Given the description of an element on the screen output the (x, y) to click on. 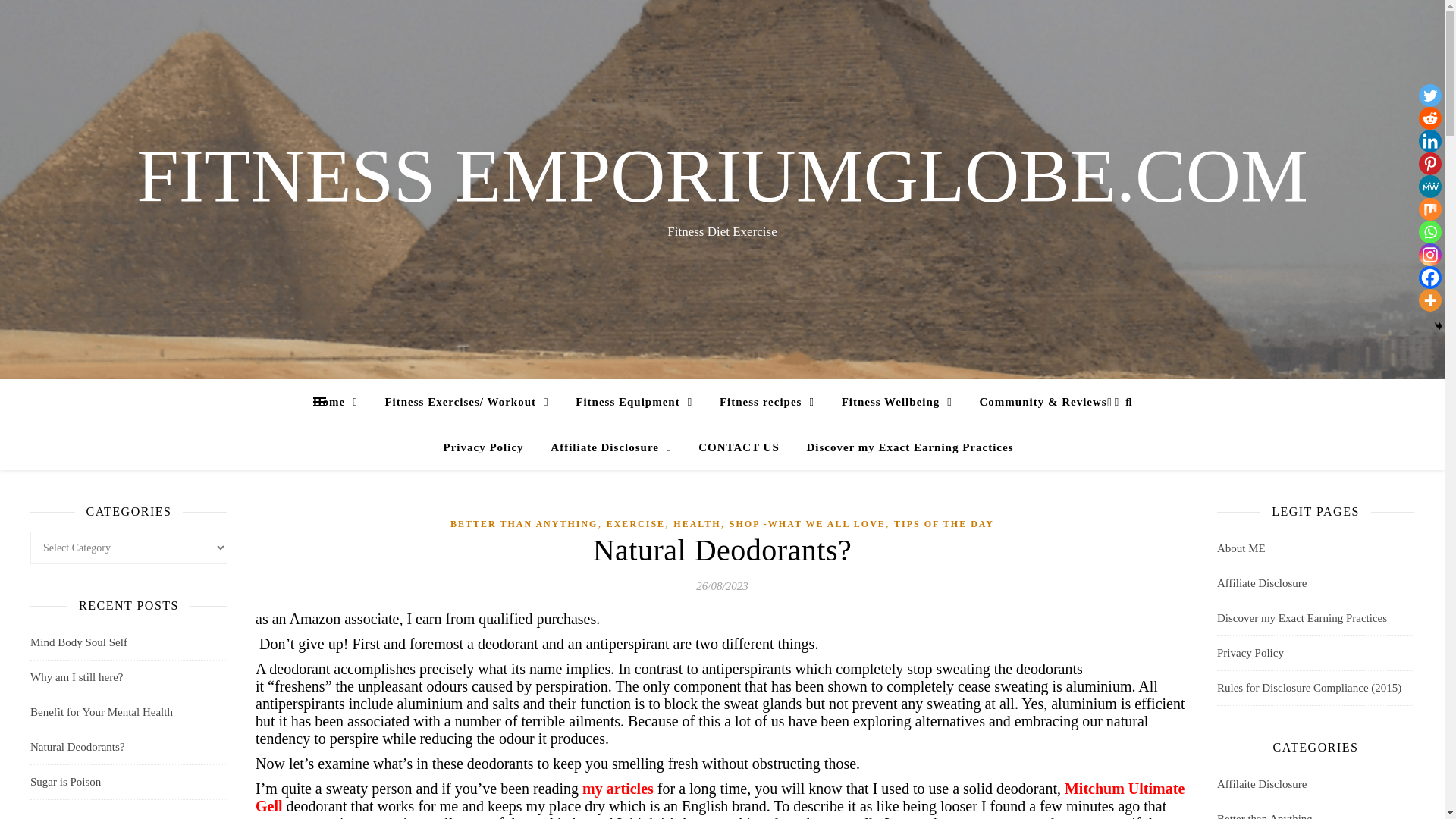
Reddit (1429, 118)
Fitness recipes (767, 402)
Fitness Wellbeing (896, 402)
Fitness Equipment (633, 402)
Home (341, 402)
Twitter (1429, 95)
